Given the description of an element on the screen output the (x, y) to click on. 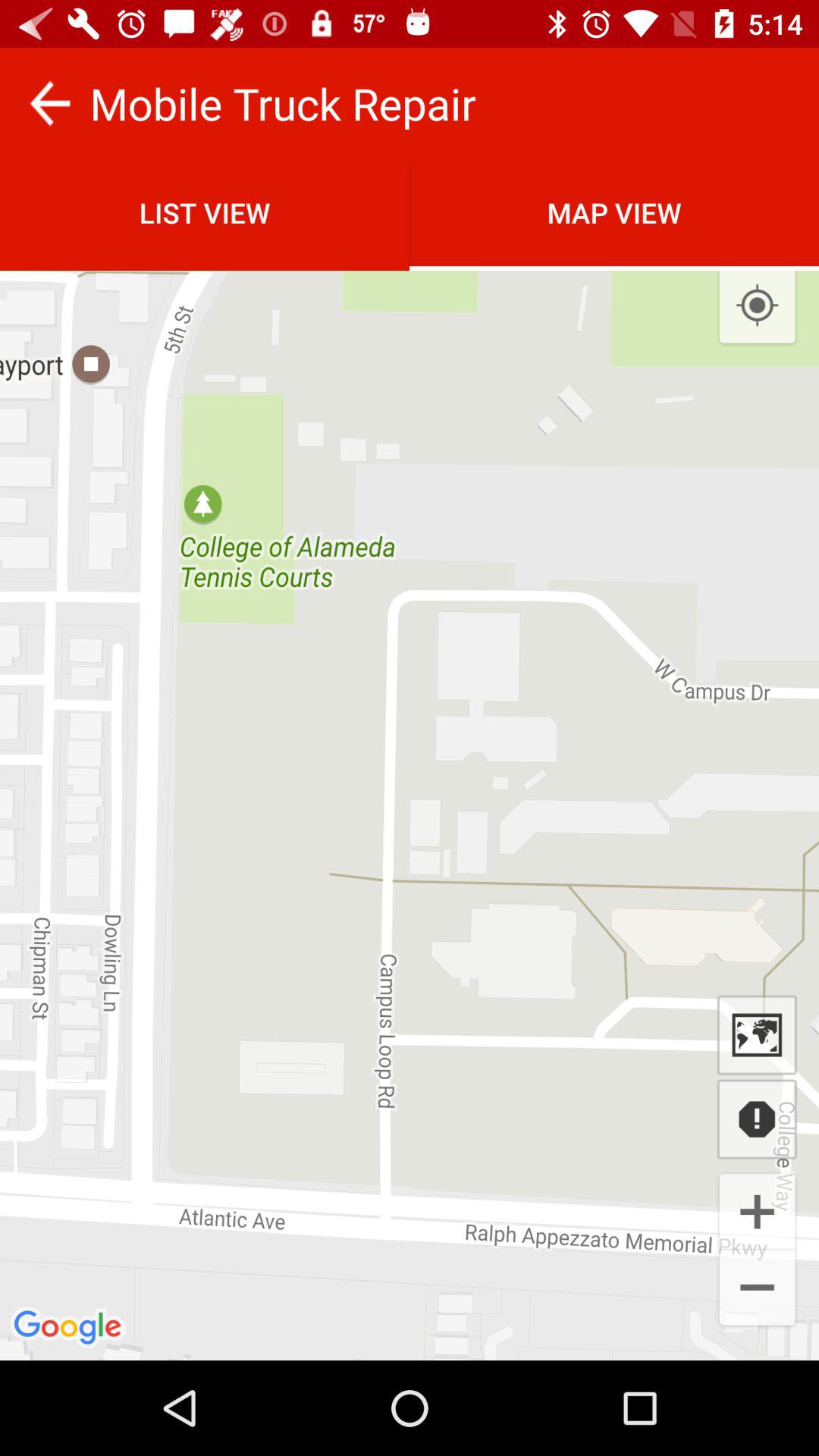
choose the item at the center (409, 759)
